Given the description of an element on the screen output the (x, y) to click on. 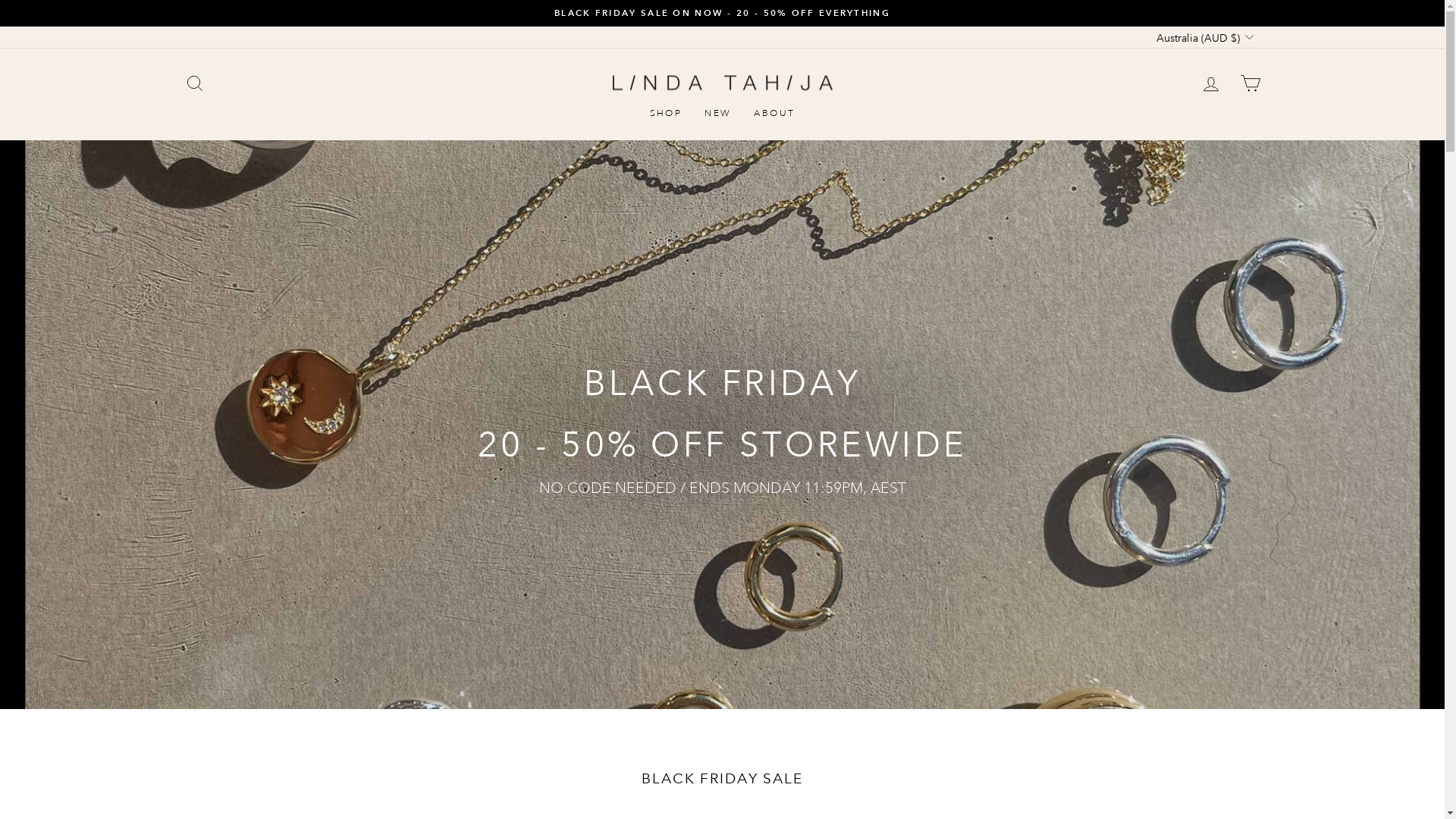
LOG IN Element type: text (1210, 82)
Skip to content Element type: text (0, 0)
SEARCH Element type: text (193, 82)
SHOP Element type: text (665, 114)
CART Element type: text (1249, 82)
NEW Element type: text (717, 114)
ABOUT Element type: text (774, 114)
Australia (AUD $) Element type: text (1203, 36)
